Given the description of an element on the screen output the (x, y) to click on. 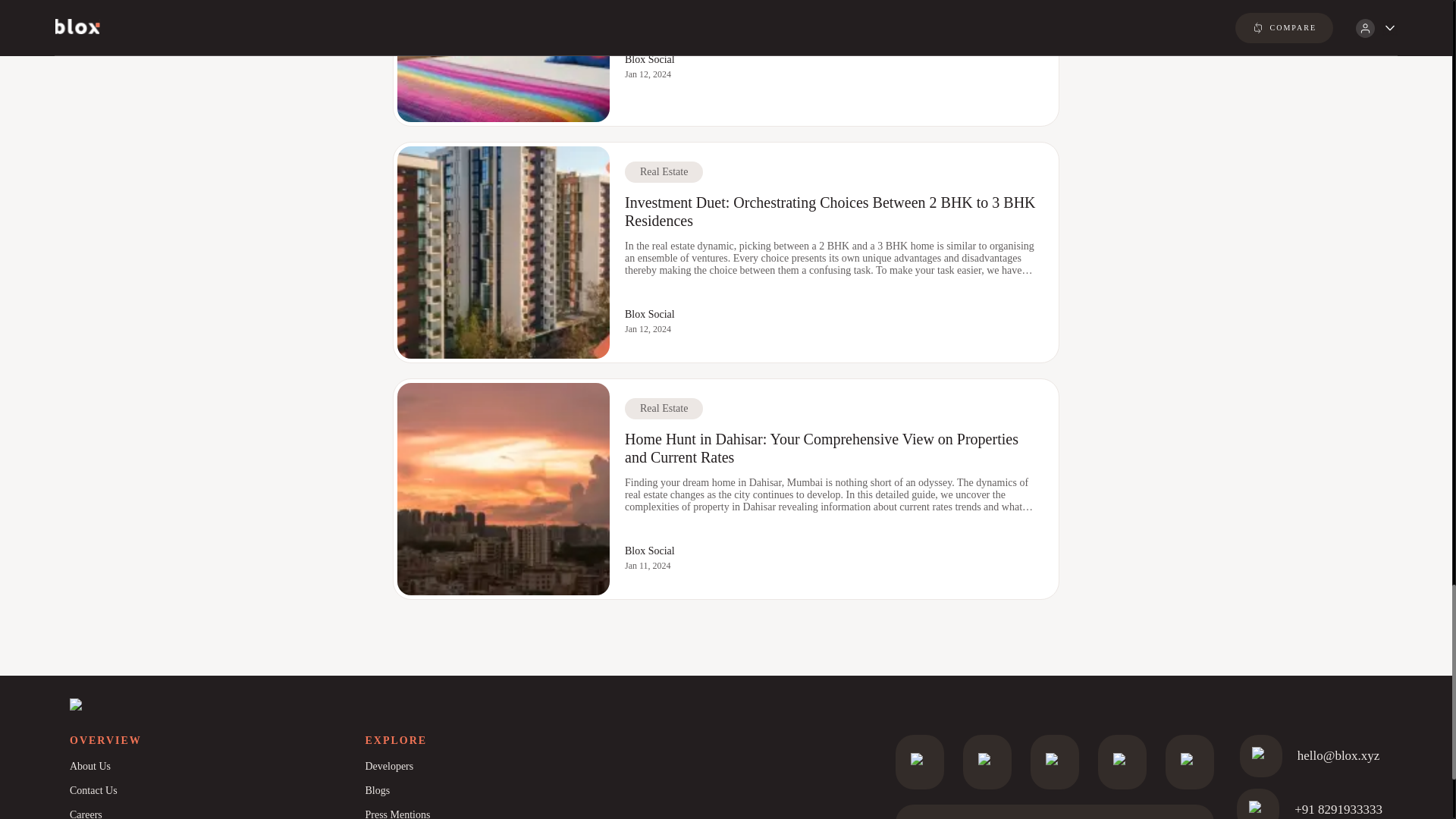
Contact Us (217, 790)
Blogs (512, 790)
Developers (512, 766)
Careers (217, 811)
About Us (217, 766)
Press Mentions (512, 811)
